Given the description of an element on the screen output the (x, y) to click on. 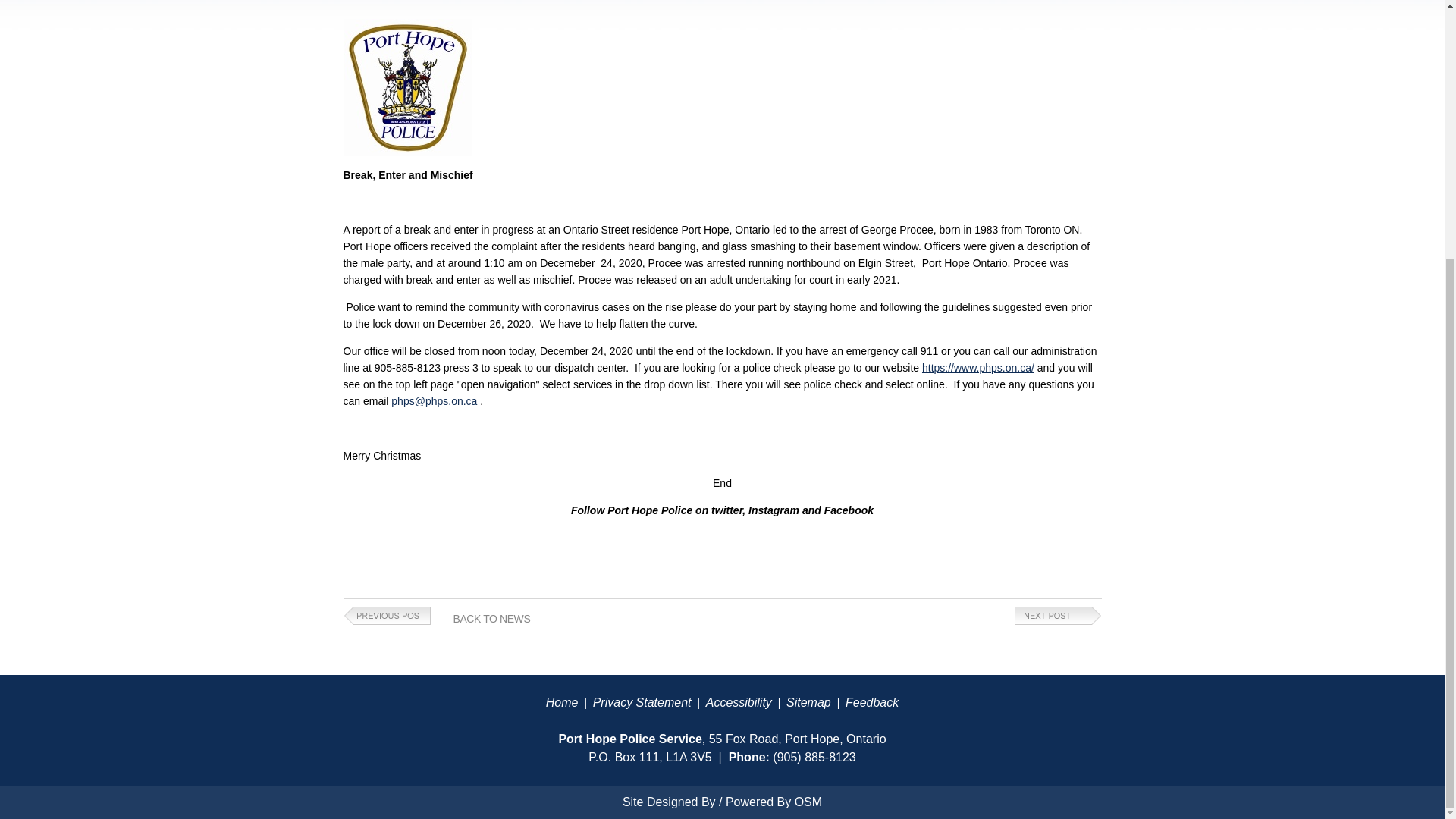
Accessibility (738, 702)
Site Map (808, 702)
Home (562, 702)
Privacy Statement (641, 702)
Feedback (871, 702)
